Given the description of an element on the screen output the (x, y) to click on. 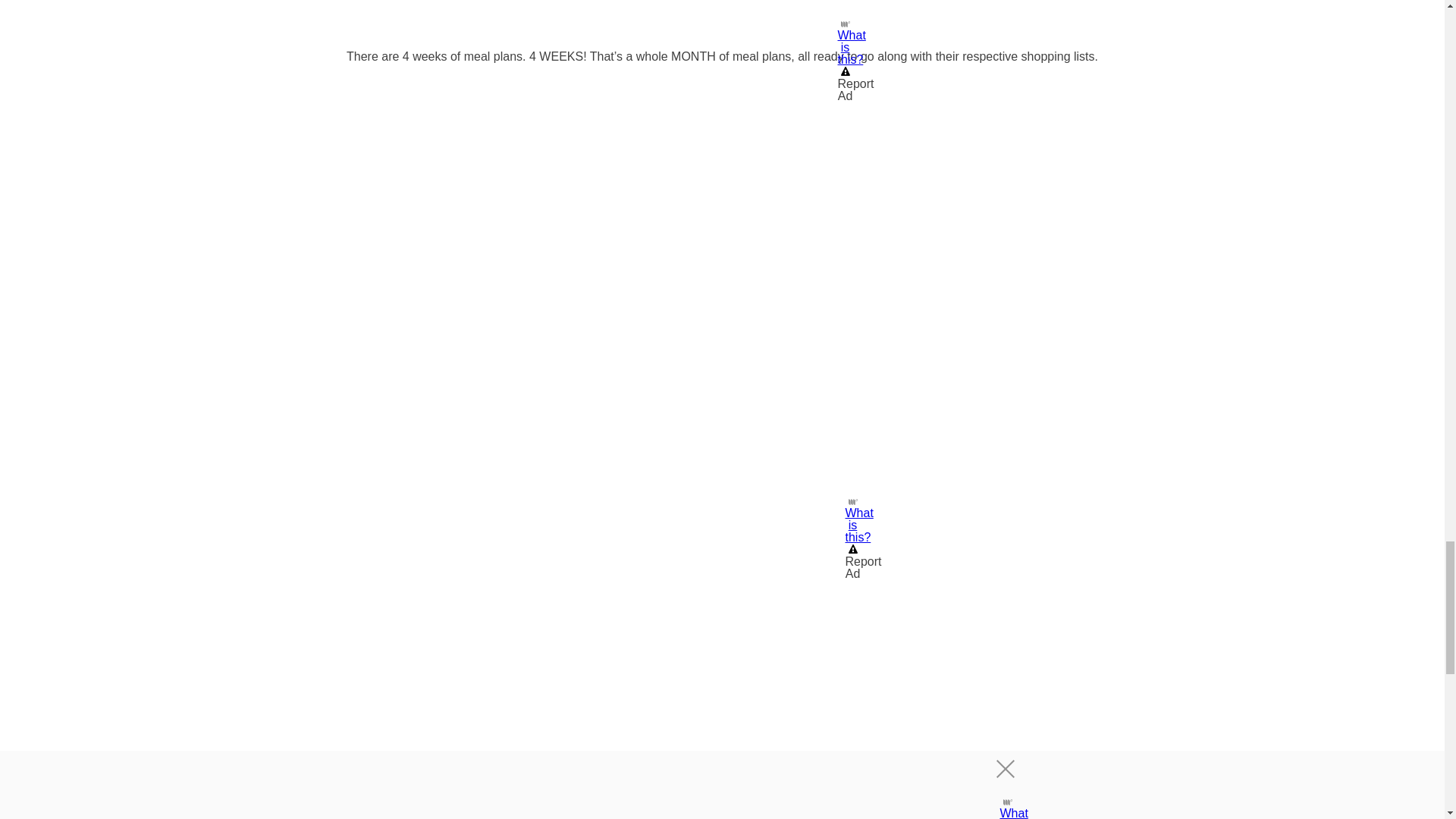
3rd party ad content (721, 16)
3rd party ad content (721, 491)
